Given the description of an element on the screen output the (x, y) to click on. 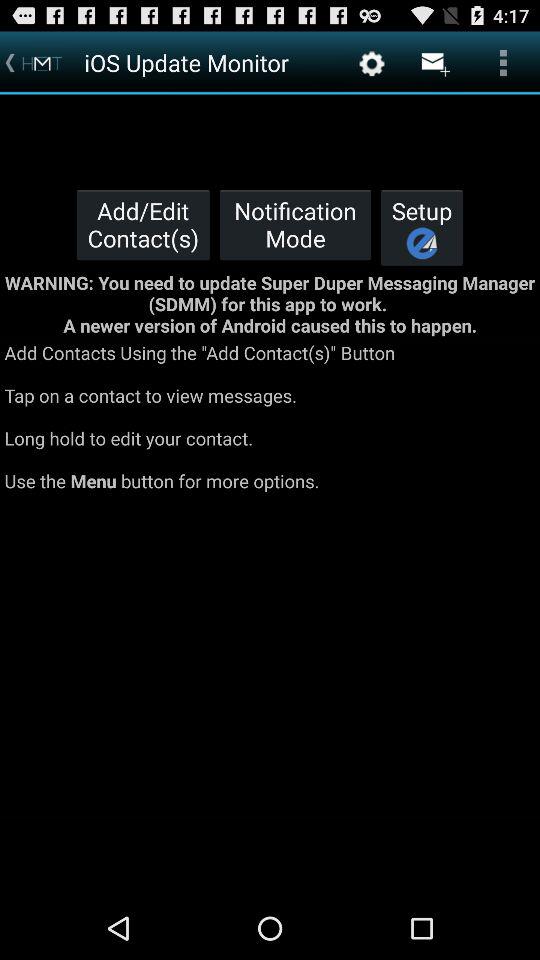
press icon to the right of the add edit contact button (295, 224)
